Given the description of an element on the screen output the (x, y) to click on. 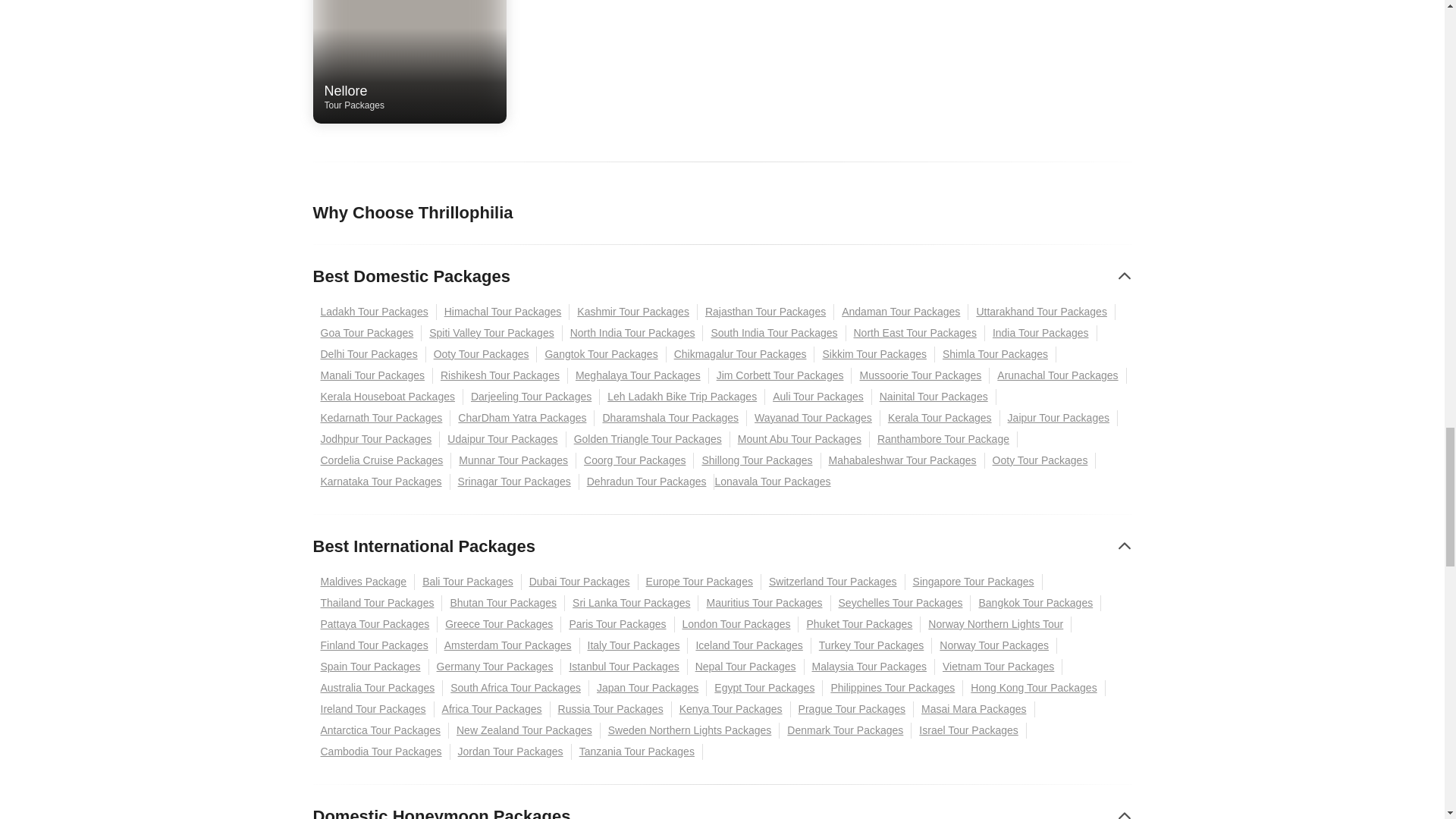
South India Tour Packages (774, 333)
India Tour Packages (1041, 333)
Goa Tour Packages (367, 333)
North India Tour Packages (632, 333)
Andaman Tour Packages (901, 311)
Kashmir Tour Packages (633, 311)
Himachal Tour Packages (503, 311)
Rajasthan Tour Packages (765, 311)
Delhi Tour Packages (369, 354)
Spiti Valley Tour Packages (492, 333)
Ladakh Tour Packages (409, 97)
North East Tour Packages (374, 311)
Uttarakhand Tour Packages (915, 333)
